Given the description of an element on the screen output the (x, y) to click on. 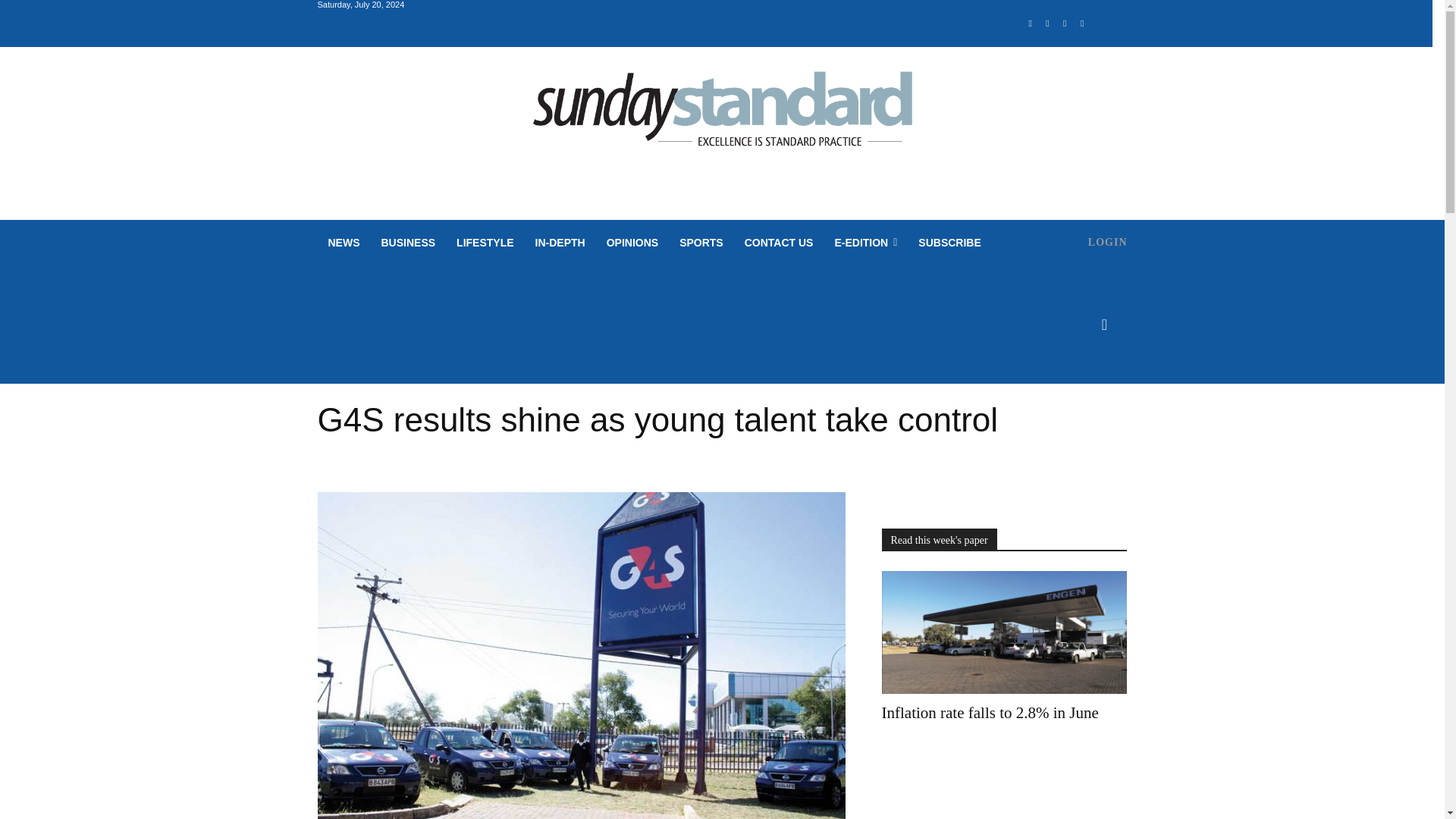
IN-DEPTH (559, 242)
LIFESTYLE (484, 242)
NEWS (343, 242)
CONTACT US (778, 242)
Instagram (1048, 23)
SPORTS (700, 242)
Sunday Standard (721, 114)
E-EDITION (865, 242)
Facebook (1030, 23)
Twitter (1065, 23)
Sunday Standard (721, 114)
Youtube (1082, 23)
BUSINESS (407, 242)
OPINIONS (631, 242)
